Given the description of an element on the screen output the (x, y) to click on. 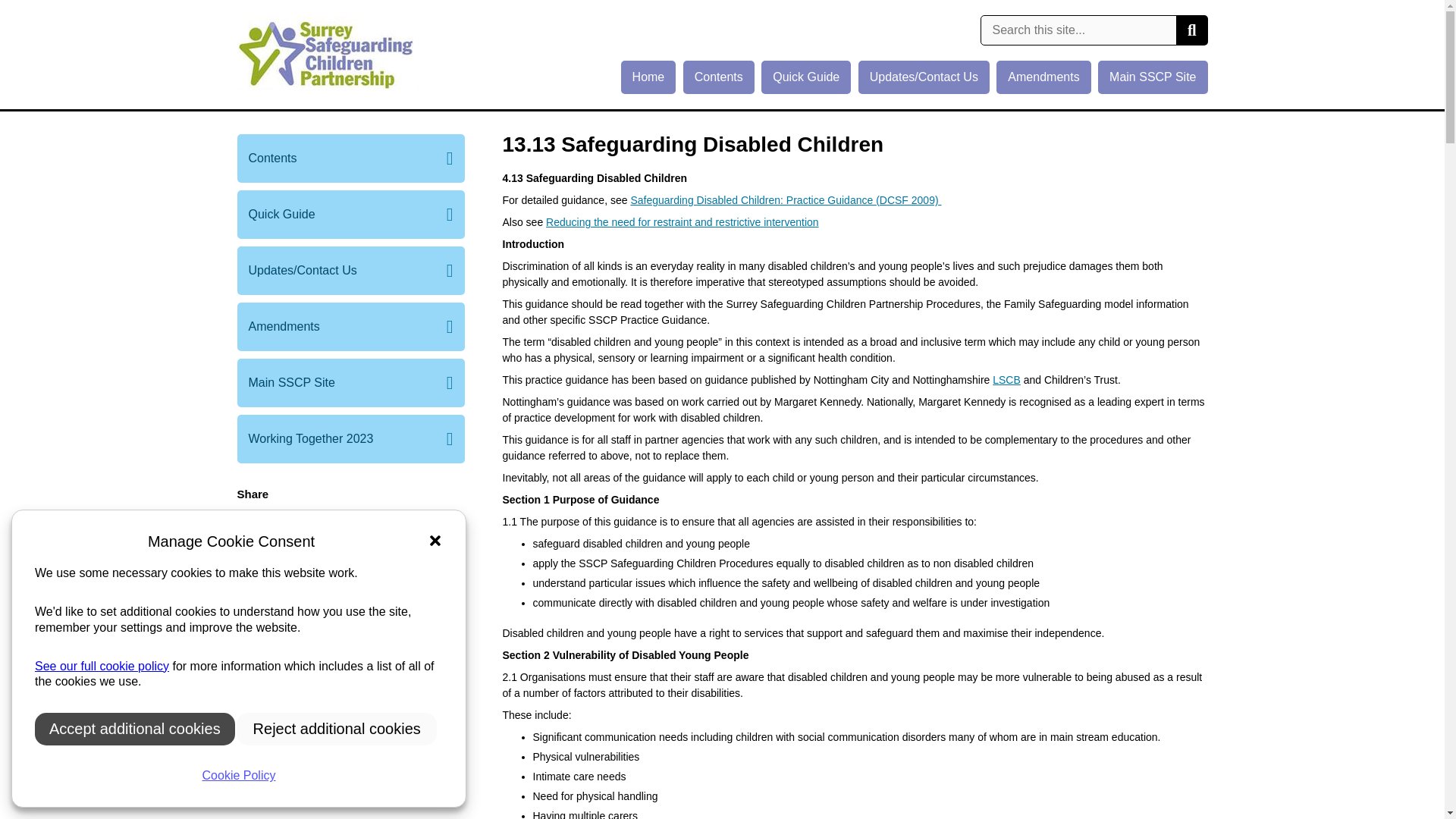
Accept additional cookies (134, 728)
Reject additional cookies (335, 728)
Reducing the need for restraint and restrictive intervention (682, 222)
Home (649, 77)
Quick Guide (349, 214)
Main SSCP Site (349, 382)
Cookie Policy (238, 775)
Contents (718, 77)
Cookie Policy (101, 666)
Amendments (1042, 77)
